Given the description of an element on the screen output the (x, y) to click on. 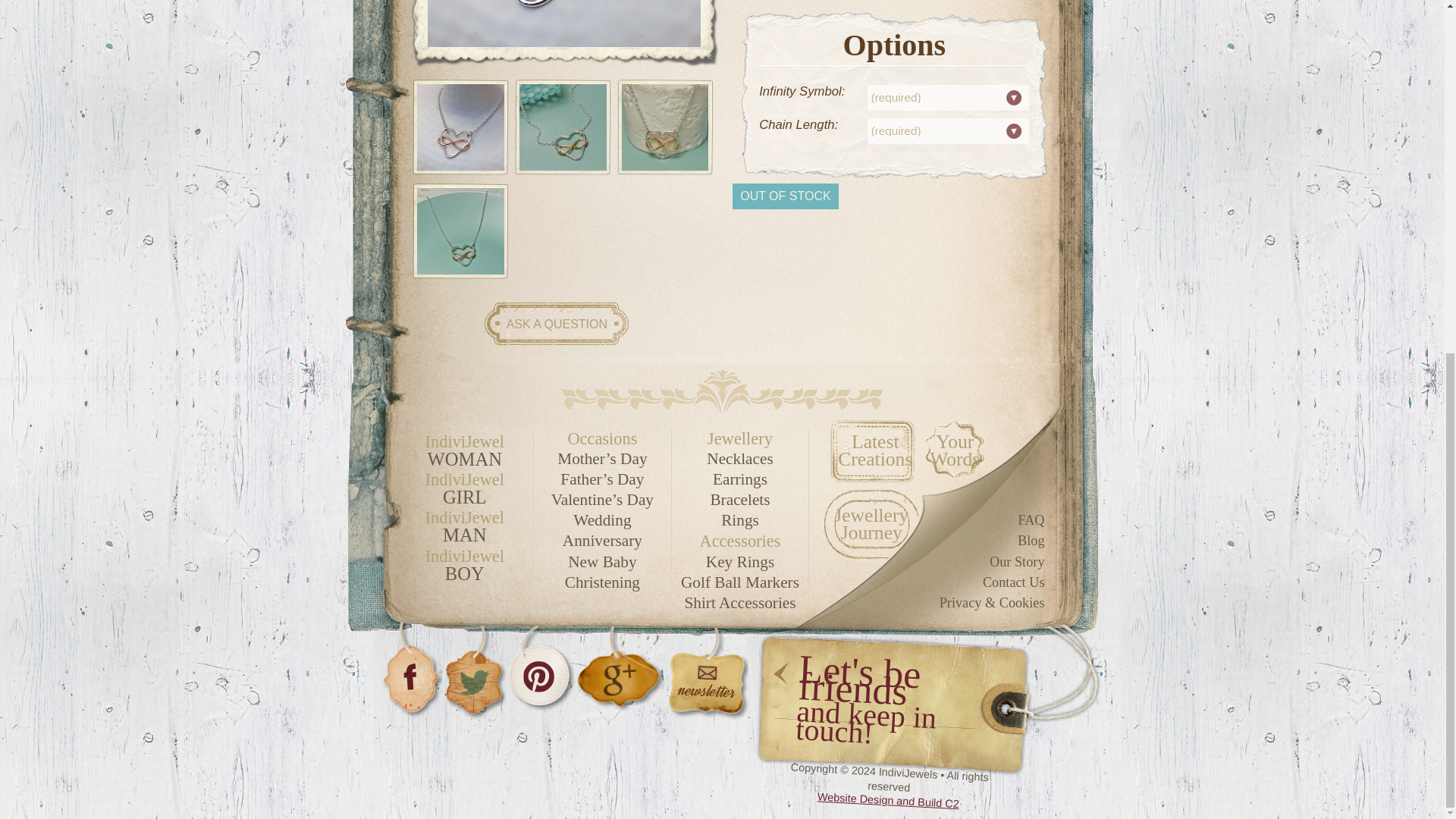
MAN (464, 534)
WOMAN (464, 458)
New Baby (602, 561)
Anniversary (602, 540)
BOY (464, 573)
ASK A QUESTION (556, 323)
Follow us on Google Plus (619, 670)
Wedding (602, 520)
GIRL (464, 497)
Christening (602, 582)
